Given the description of an element on the screen output the (x, y) to click on. 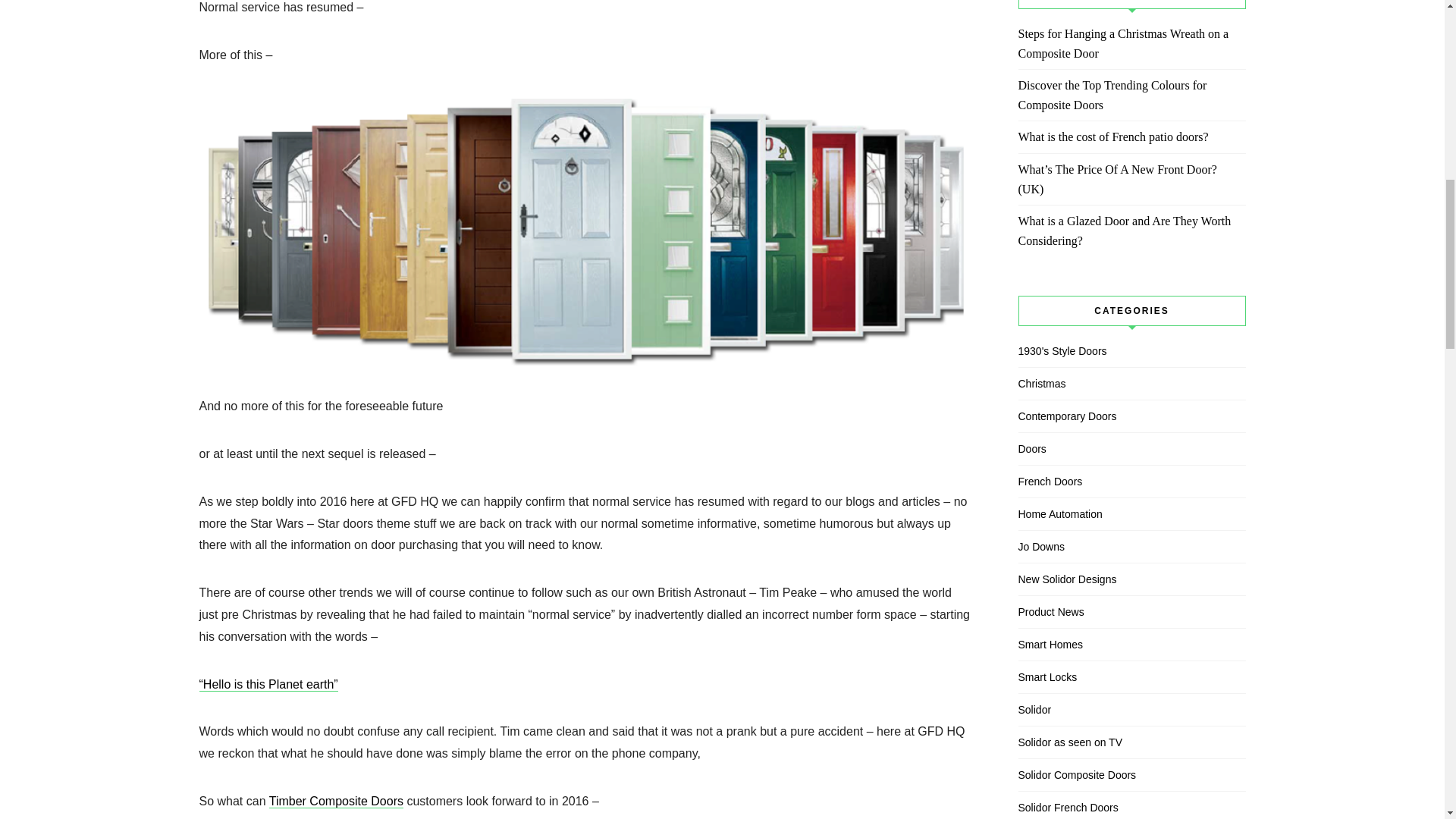
Steps for Hanging a Christmas Wreath on a Composite Door (1130, 43)
Timber Composite Doors (336, 800)
